Given the description of an element on the screen output the (x, y) to click on. 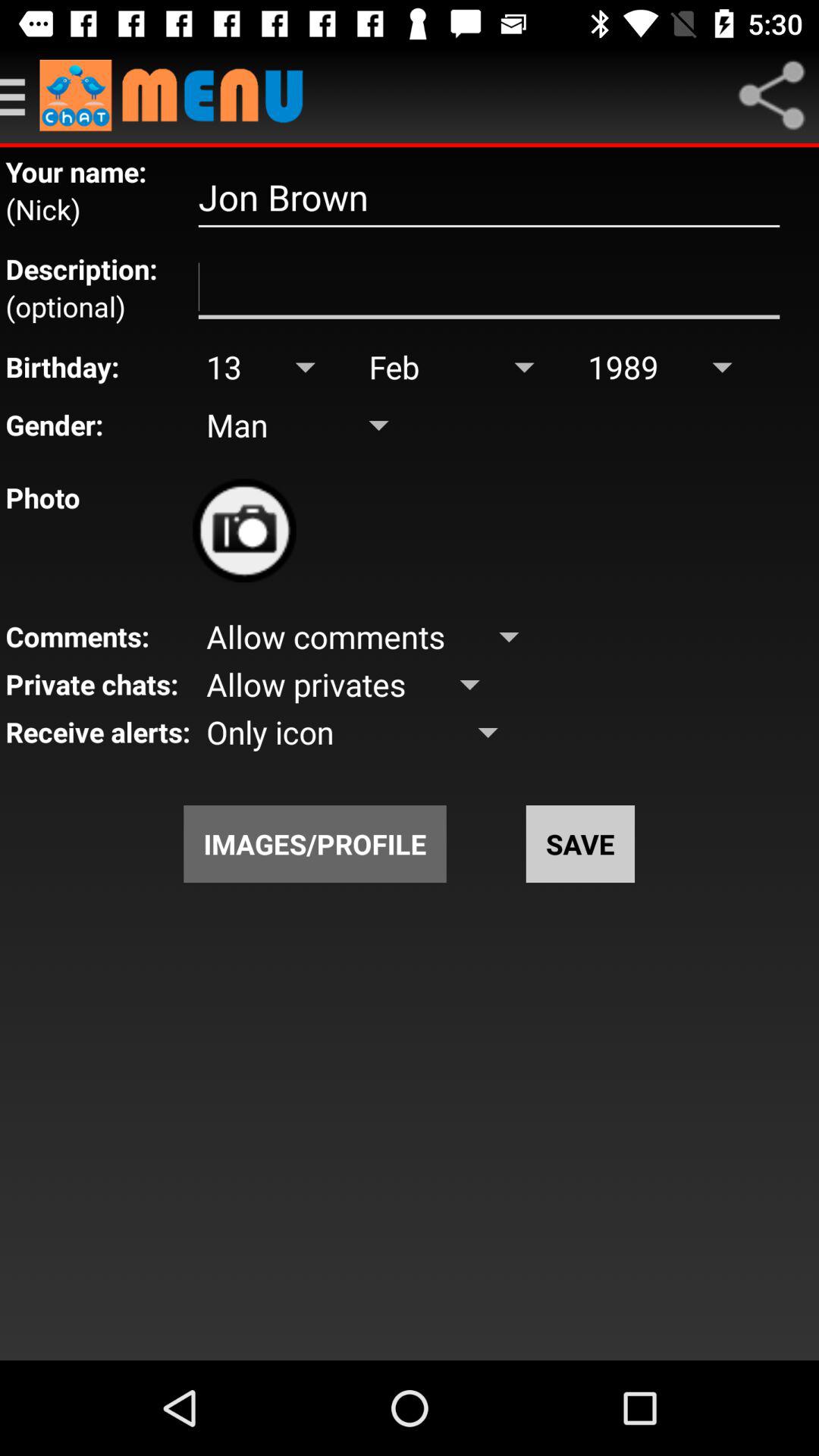
type in description (488, 287)
